Given the description of an element on the screen output the (x, y) to click on. 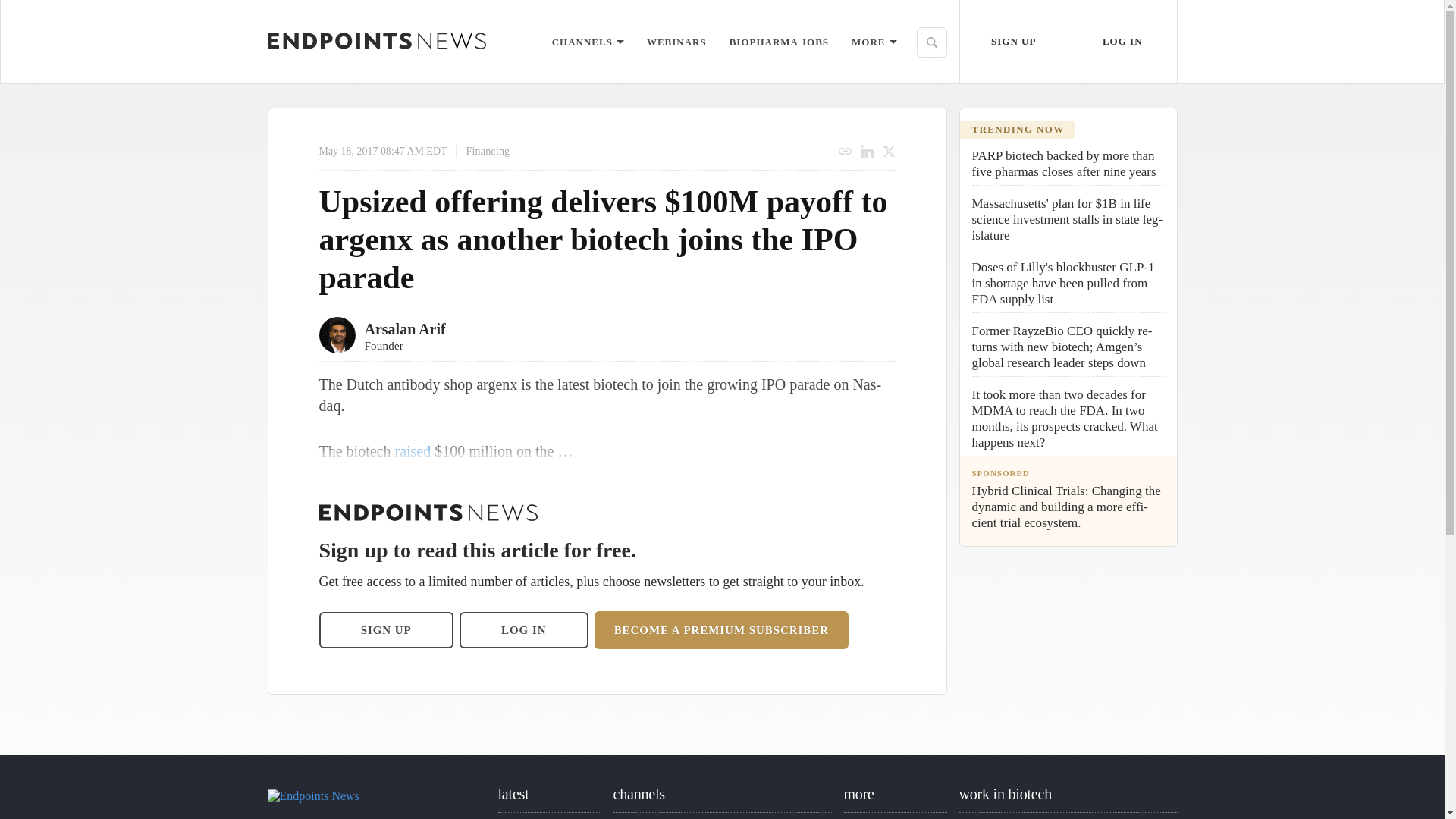
WEBINARS (676, 41)
BIOPHARMA JOBS (778, 41)
